Given the description of an element on the screen output the (x, y) to click on. 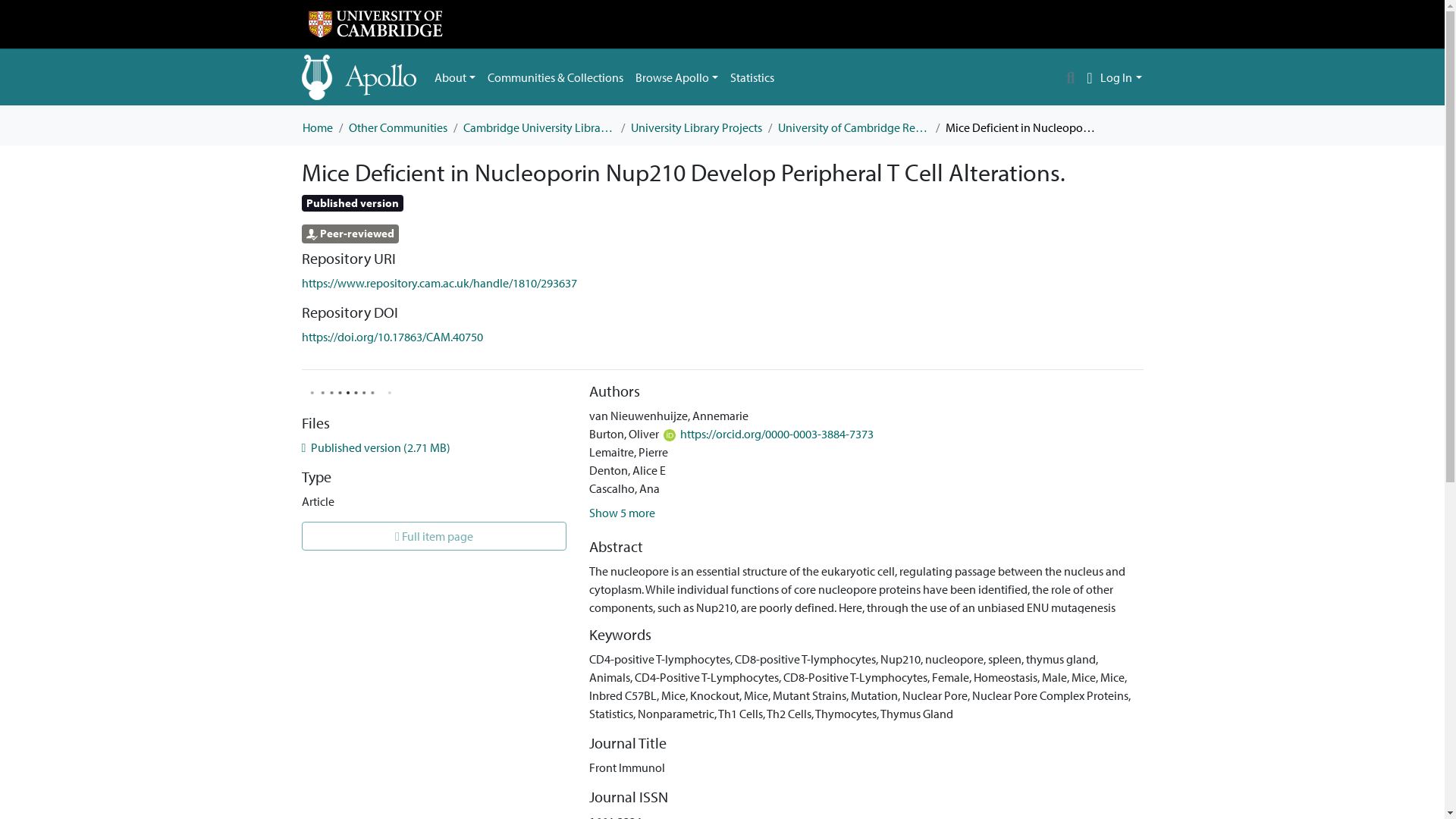
Other Communities (397, 126)
Log In (1120, 77)
Cambridge University Libraries (538, 126)
Full item page (434, 535)
Show 5 more (622, 512)
Statistics (751, 77)
Search (1070, 76)
Browse Apollo (675, 77)
University Library Projects (695, 126)
About (454, 77)
